Given the description of an element on the screen output the (x, y) to click on. 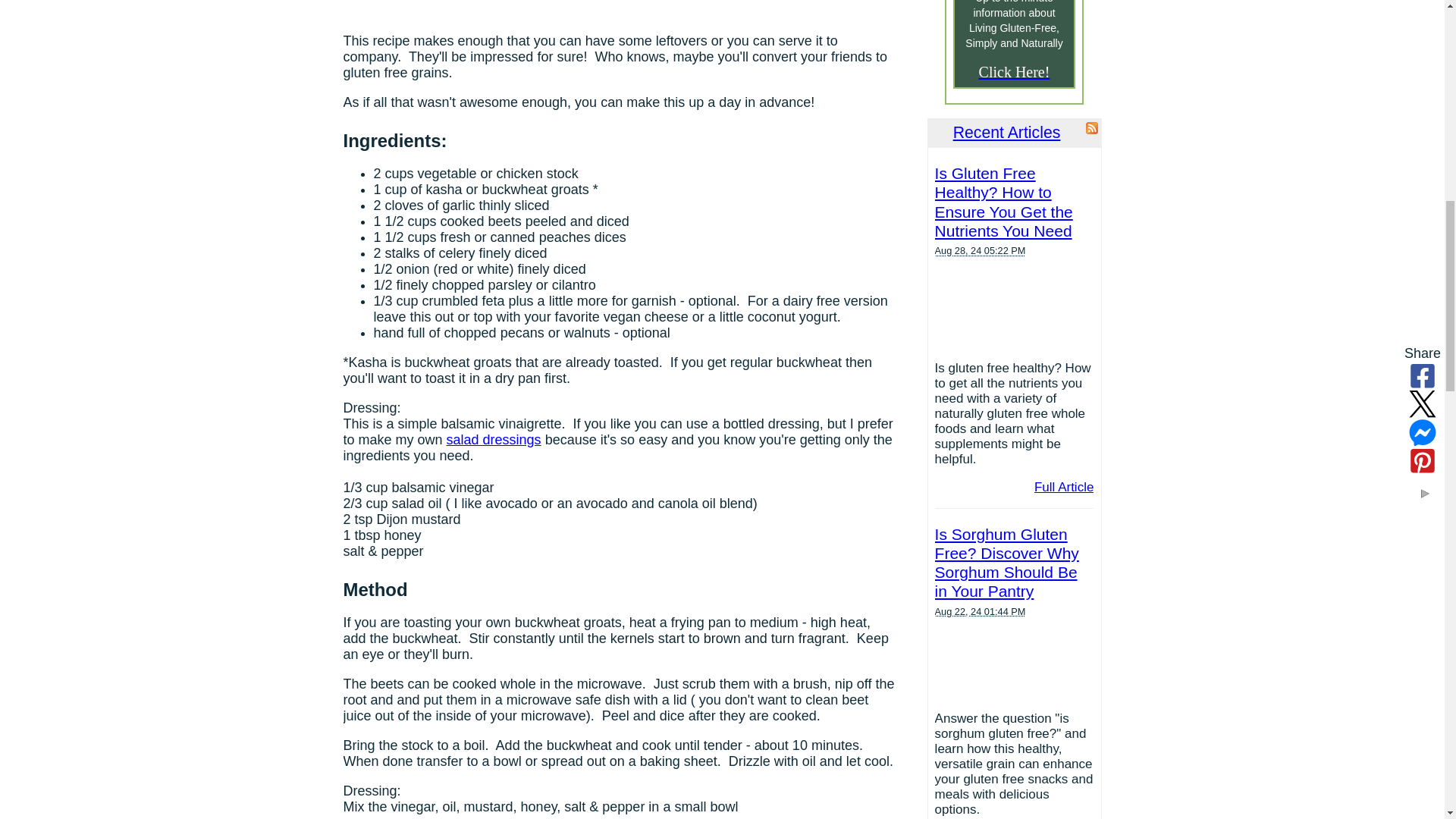
2024-08-22T13:44:27-0400 (980, 611)
salad dressings (493, 439)
Click Here! (1013, 71)
Recent Articles (1007, 132)
2024-08-28T17:22:15-0400 (980, 250)
